Given the description of an element on the screen output the (x, y) to click on. 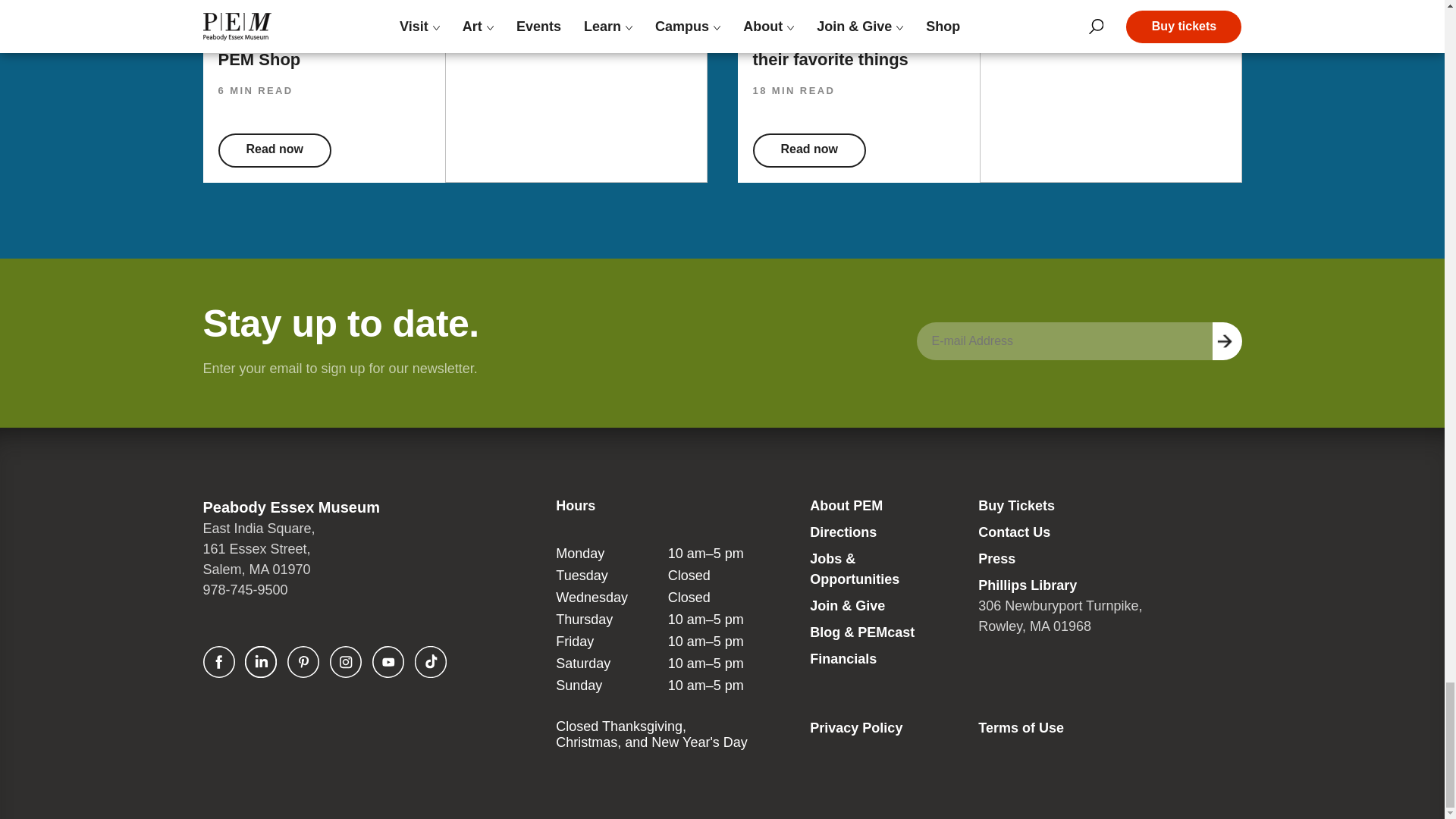
YouTube (388, 662)
Facebook (218, 662)
Instagram (345, 662)
Pinterest (302, 662)
